Given the description of an element on the screen output the (x, y) to click on. 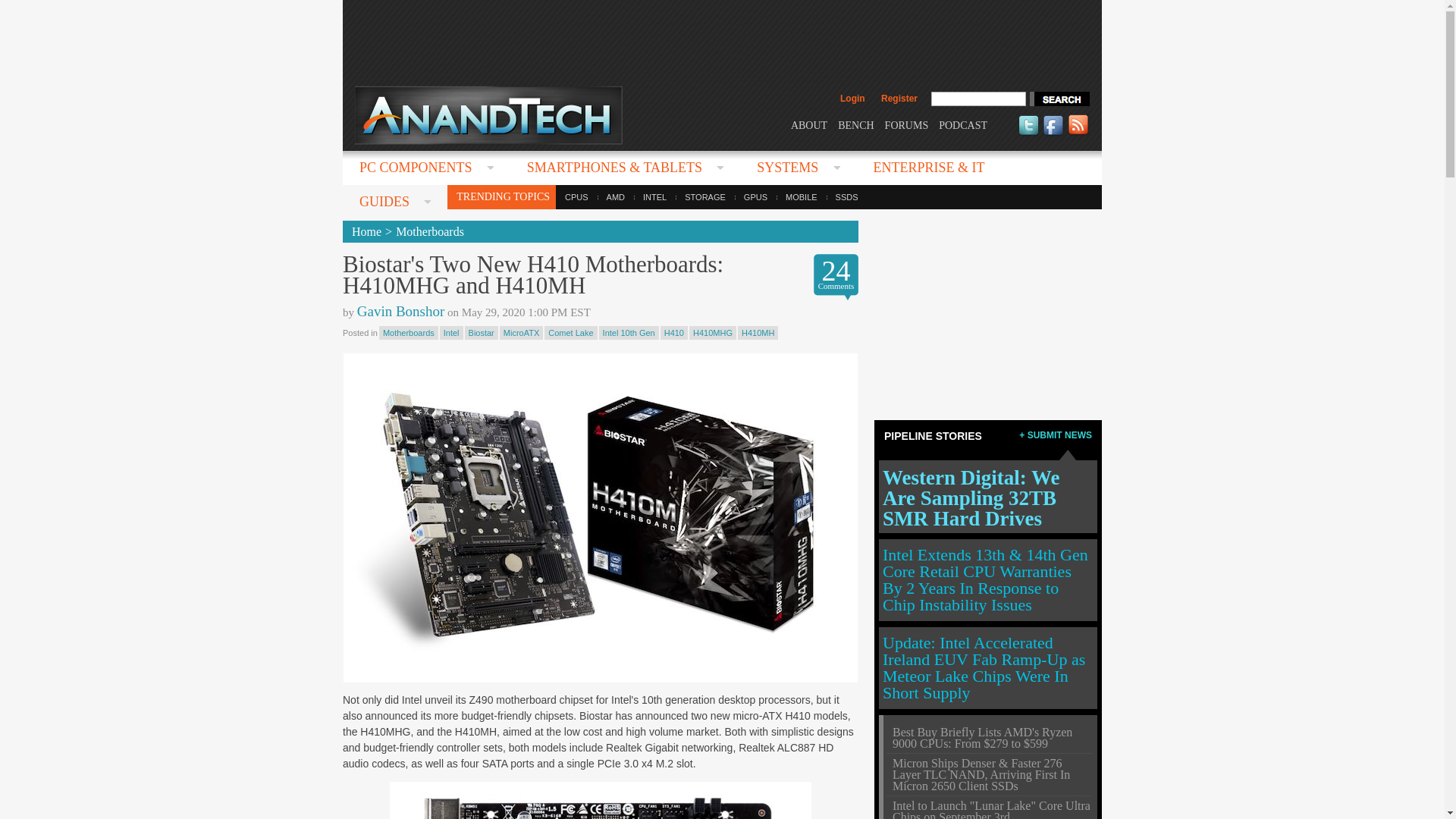
PODCAST (963, 125)
search (1059, 98)
search (1059, 98)
FORUMS (906, 125)
BENCH (855, 125)
Login (852, 98)
search (1059, 98)
ABOUT (808, 125)
Register (898, 98)
